Given the description of an element on the screen output the (x, y) to click on. 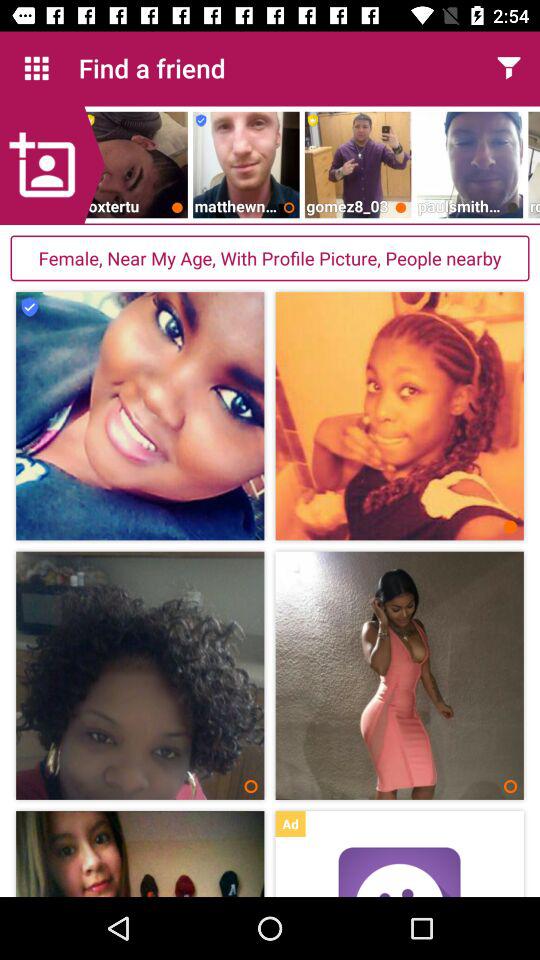
select the tick mark (29, 306)
select the image at the bottom left corner (140, 853)
select the second image below find a friend (246, 164)
select the second image from the second column (399, 675)
select the last image below find a friend (534, 164)
